Given the description of an element on the screen output the (x, y) to click on. 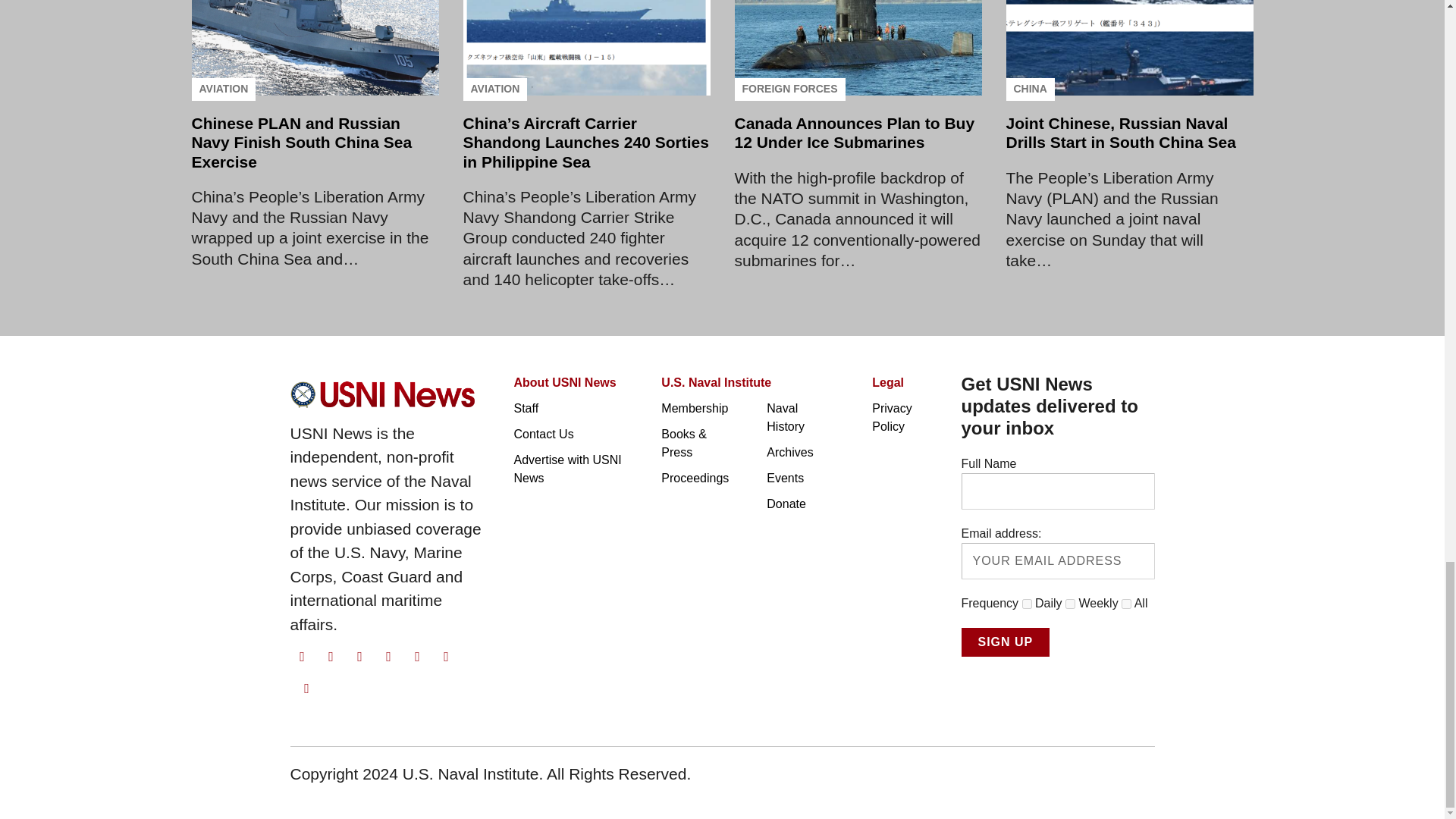
bf28bbb352 (1070, 603)
1f9176d61b (1027, 603)
Sign up (1004, 642)
a4211728d9 (1126, 603)
